Given the description of an element on the screen output the (x, y) to click on. 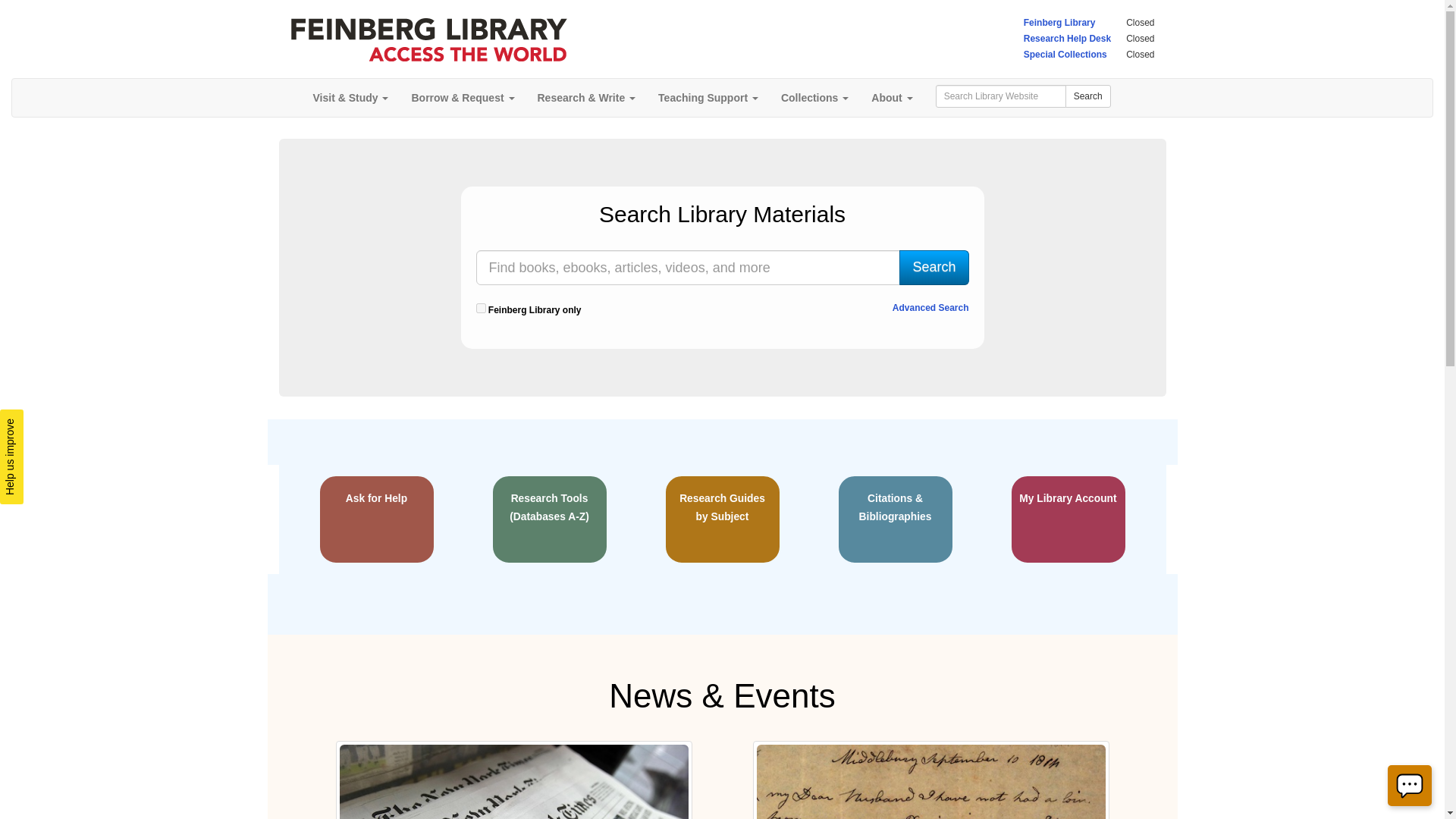
Research Help Desk (1066, 38)
Ask a Librarian (1409, 784)
library home (427, 38)
Help us improve (47, 421)
Search (933, 267)
Feinberg Library (1059, 22)
Special Collections (1064, 54)
Ask a Librarian (1409, 785)
Teaching Support (708, 97)
Search (933, 267)
